Given the description of an element on the screen output the (x, y) to click on. 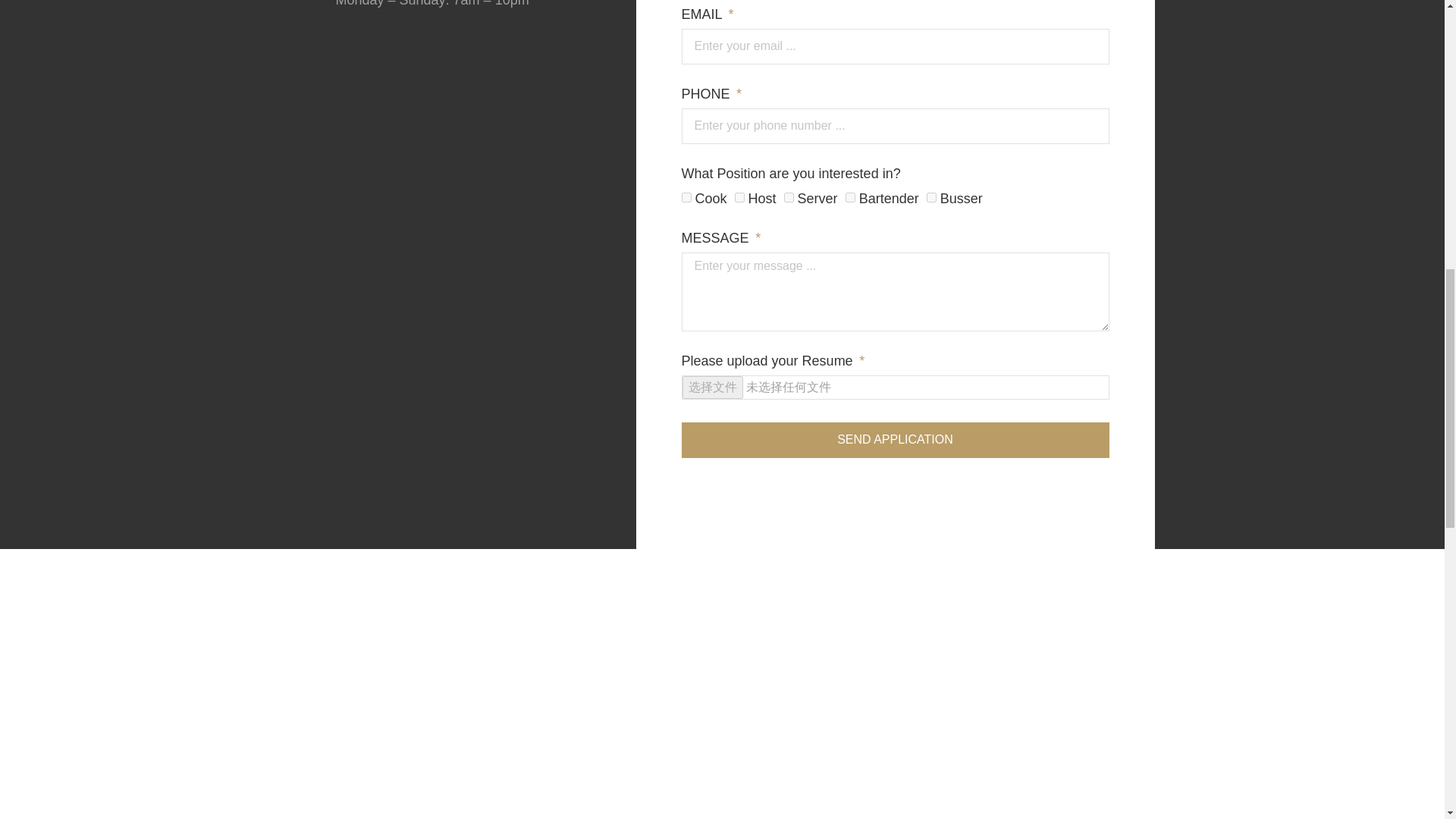
Busser (931, 197)
Server (788, 197)
Host (739, 197)
Bartender (850, 197)
SEND APPLICATION (894, 439)
Cook (685, 197)
